Given the description of an element on the screen output the (x, y) to click on. 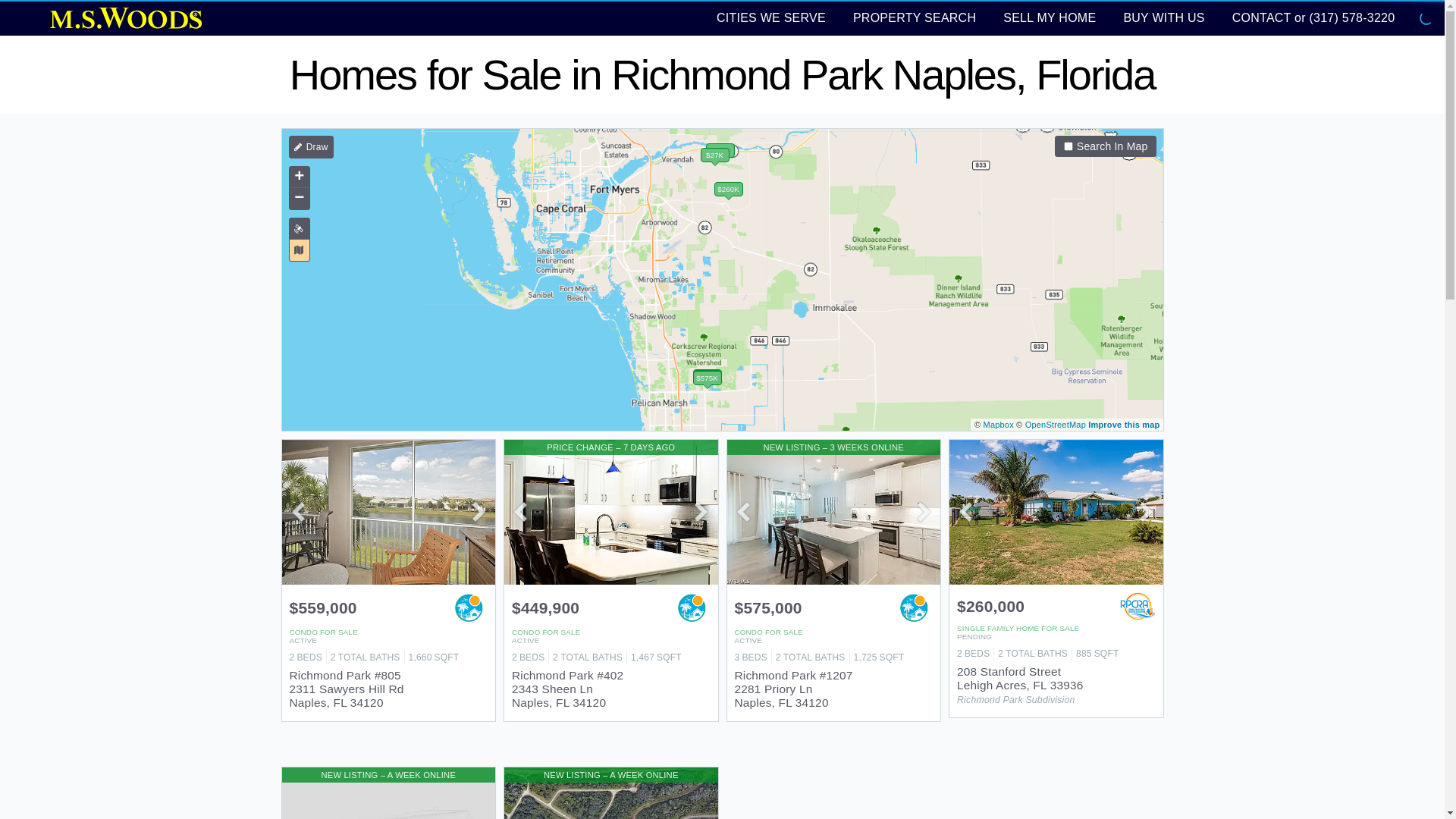
SELL MY HOME (1049, 17)
Mapbox (998, 424)
Zoom in (298, 177)
625 Greenbriar Boulevard (610, 793)
BUY WITH US (1163, 17)
CITIES WE SERVE (770, 17)
704 Mindora Avenue (389, 793)
OpenStreetMap (1055, 424)
PROPERTY SEARCH (914, 17)
Improve this map (1122, 424)
